Given the description of an element on the screen output the (x, y) to click on. 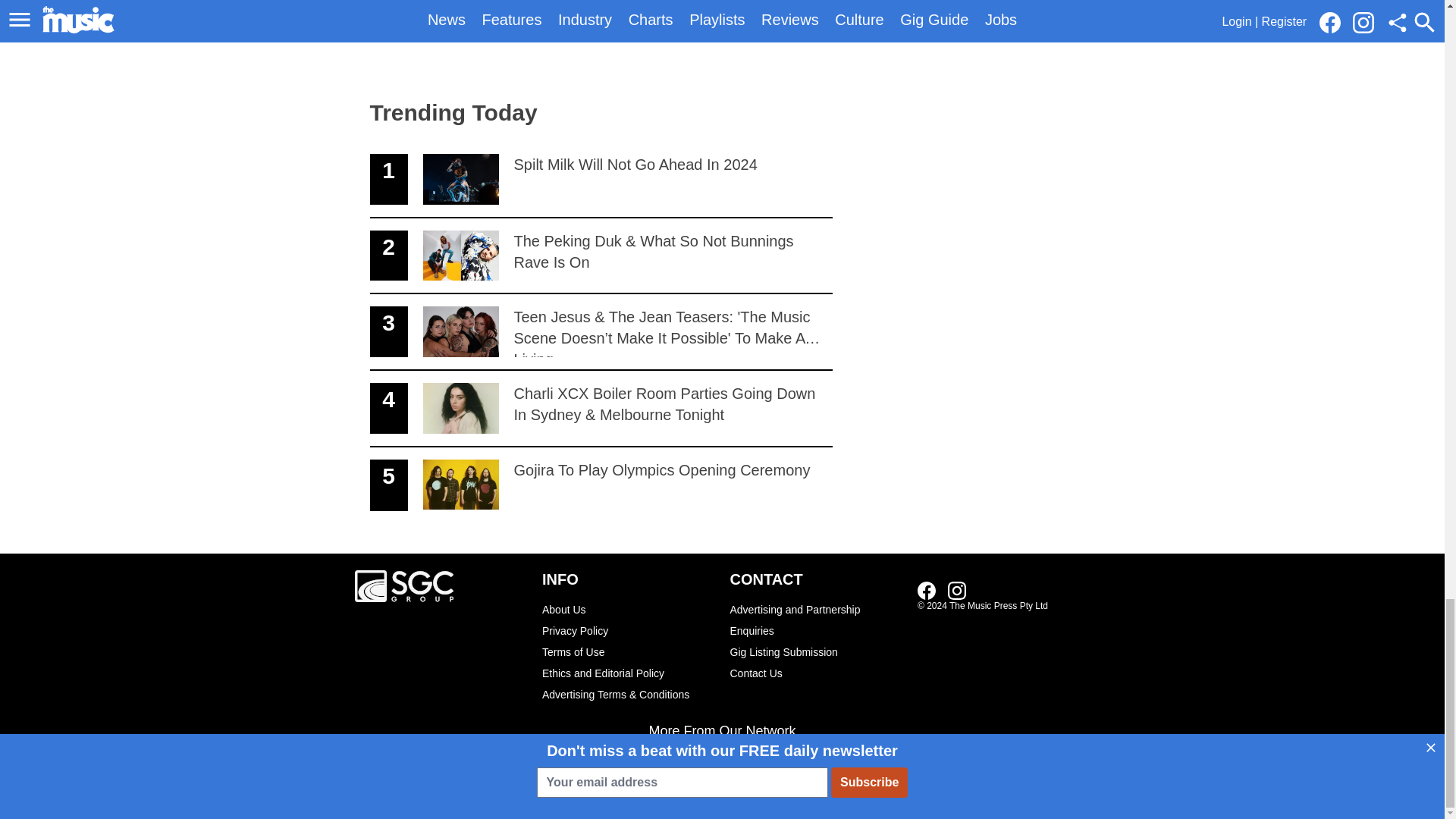
Privacy Policy (627, 630)
Link to our Instagram (600, 485)
Link to our Facebook (956, 590)
About Us (926, 590)
